Given the description of an element on the screen output the (x, y) to click on. 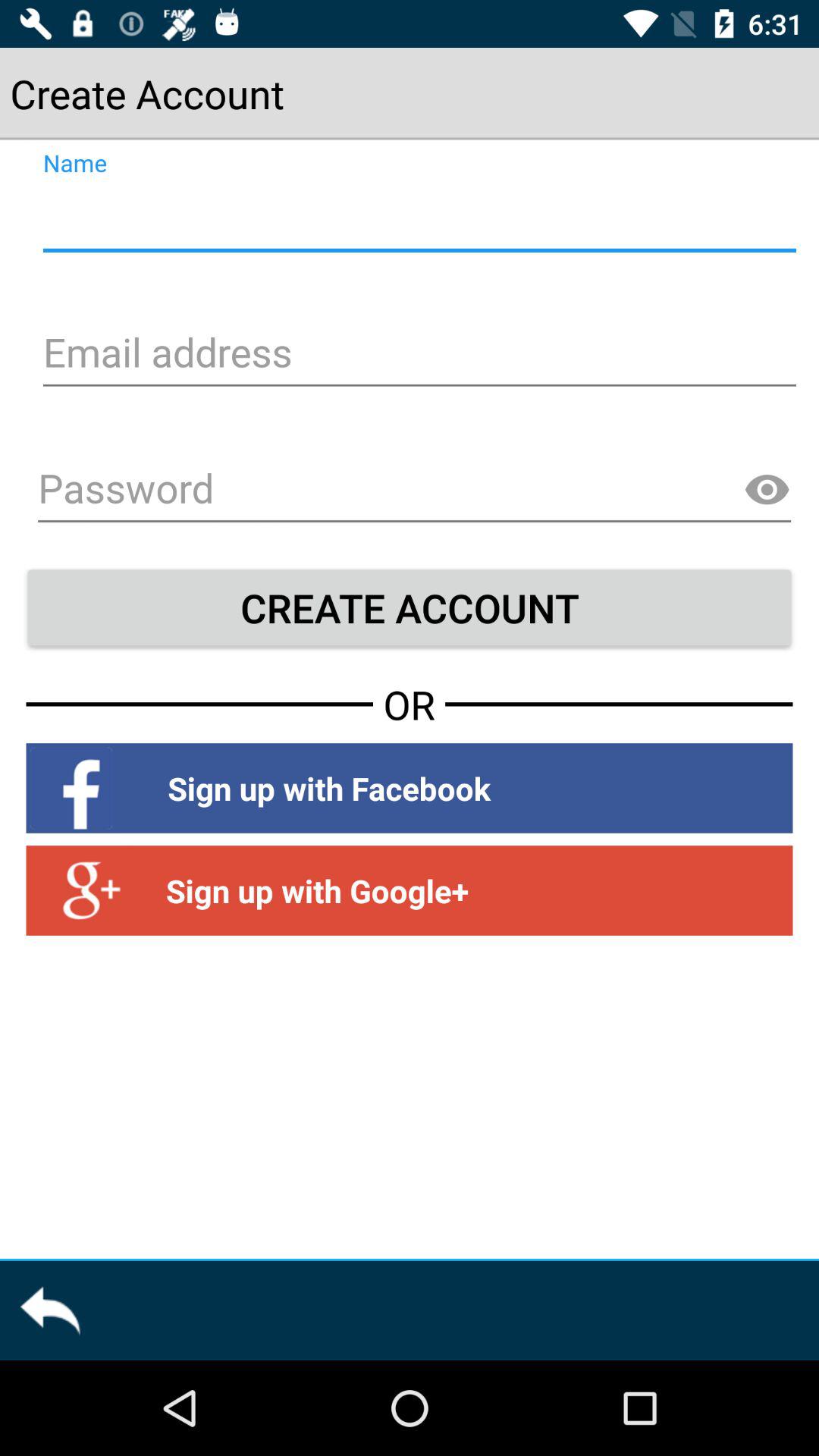
tap the item at the bottom left corner (49, 1310)
